Given the description of an element on the screen output the (x, y) to click on. 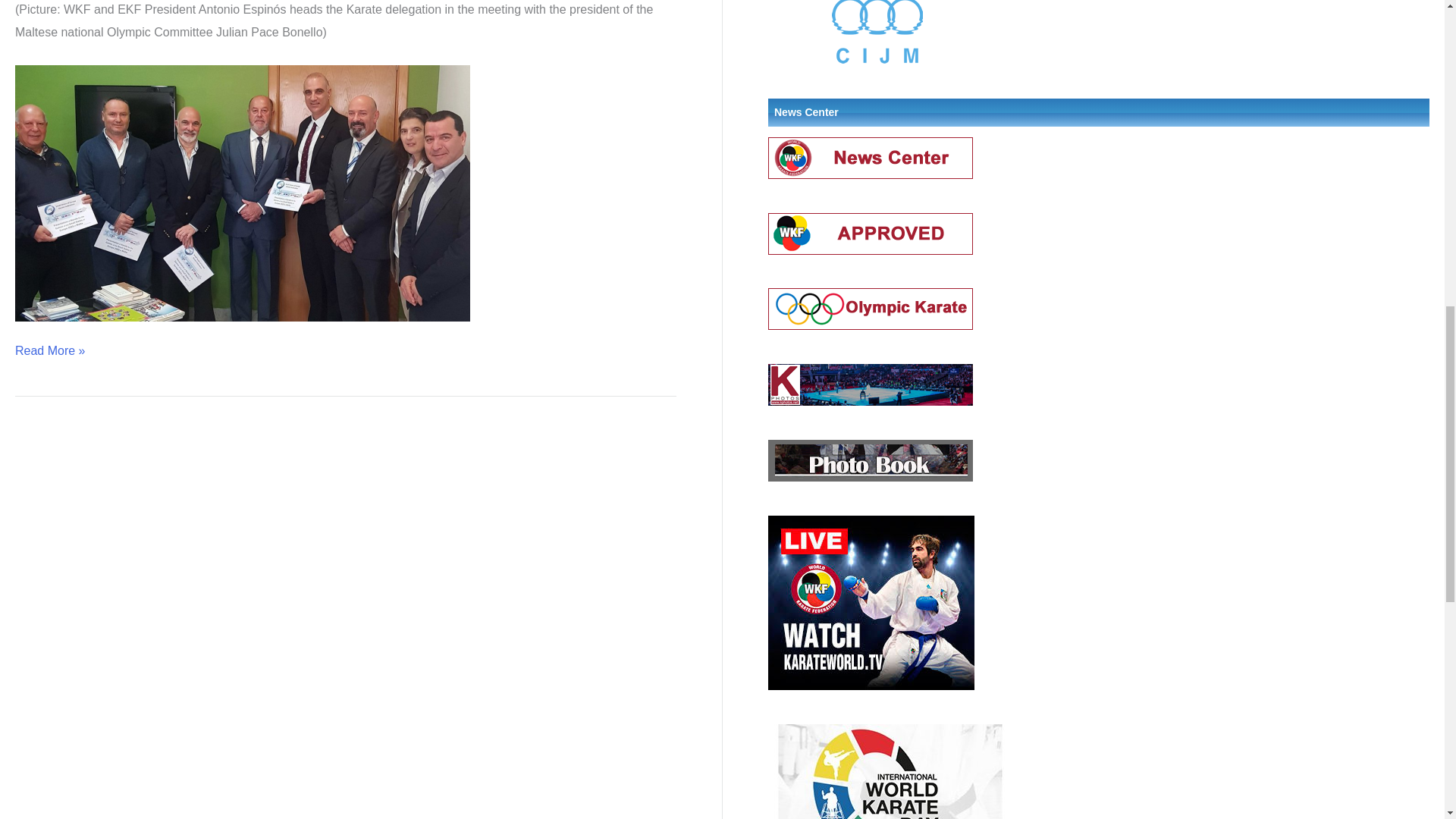
News Center (870, 156)
